Given the description of an element on the screen output the (x, y) to click on. 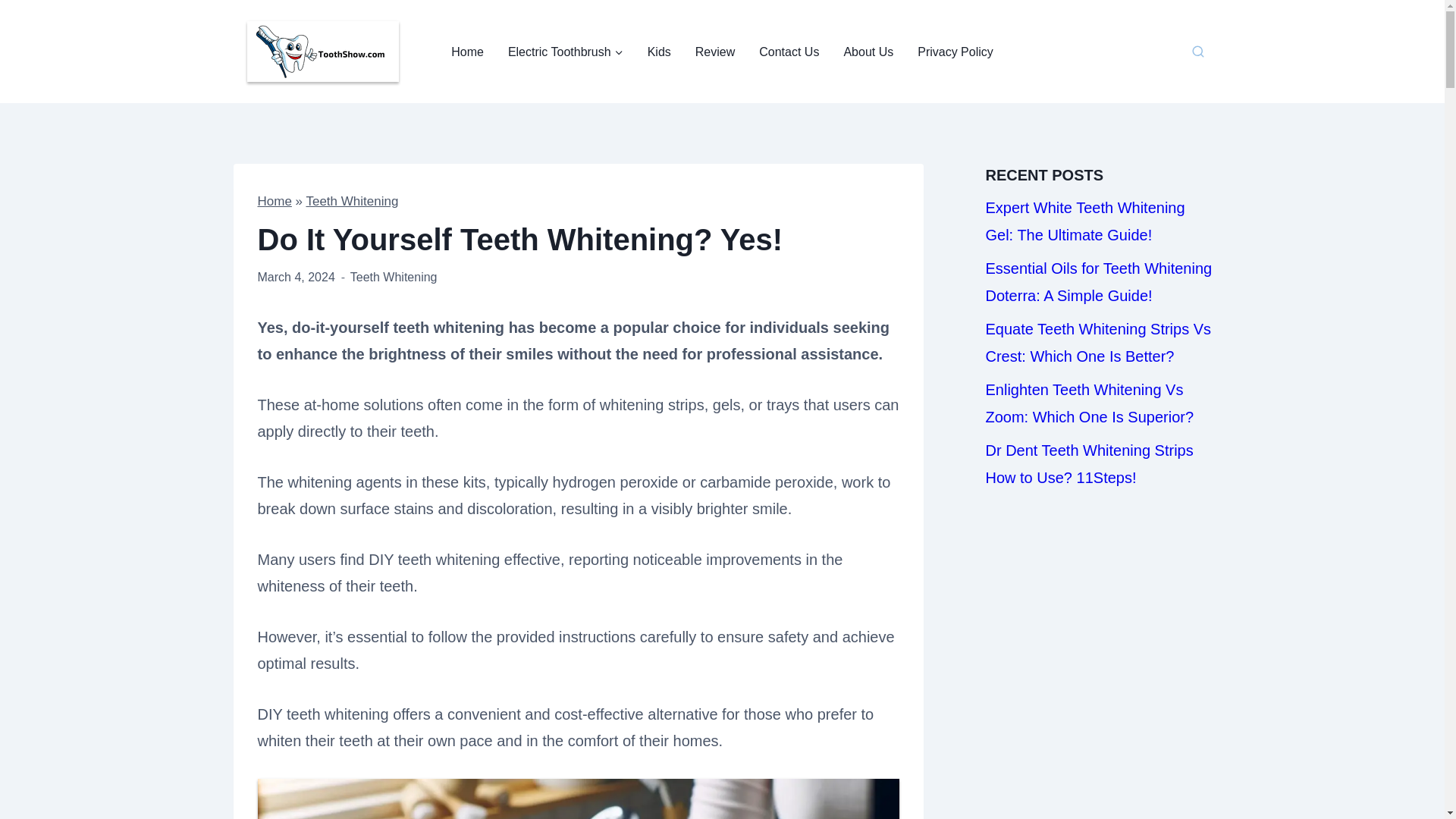
Teeth Whitening (394, 277)
Teeth Whitening (351, 201)
Home (467, 51)
Home (274, 201)
Electric Toothbrush (565, 51)
Contact Us (788, 51)
Privacy Policy (955, 51)
About Us (868, 51)
Review (714, 51)
Kids (658, 51)
